Given the description of an element on the screen output the (x, y) to click on. 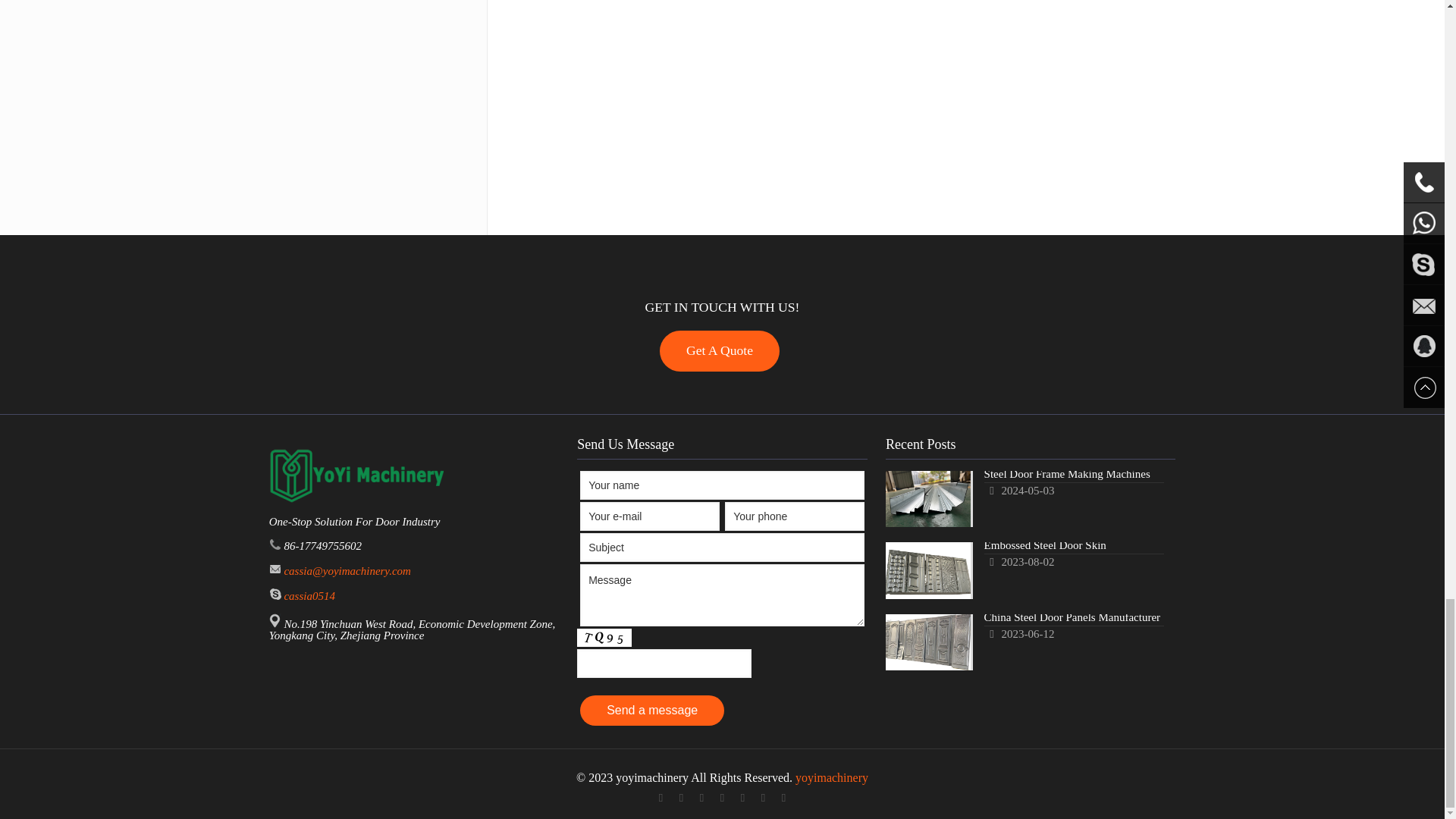
LinkedIn (722, 797)
Facebook (660, 797)
Pinterest (743, 797)
Twitter (702, 797)
Instagram (763, 797)
Send a message (651, 710)
youtube (784, 797)
